Given the description of an element on the screen output the (x, y) to click on. 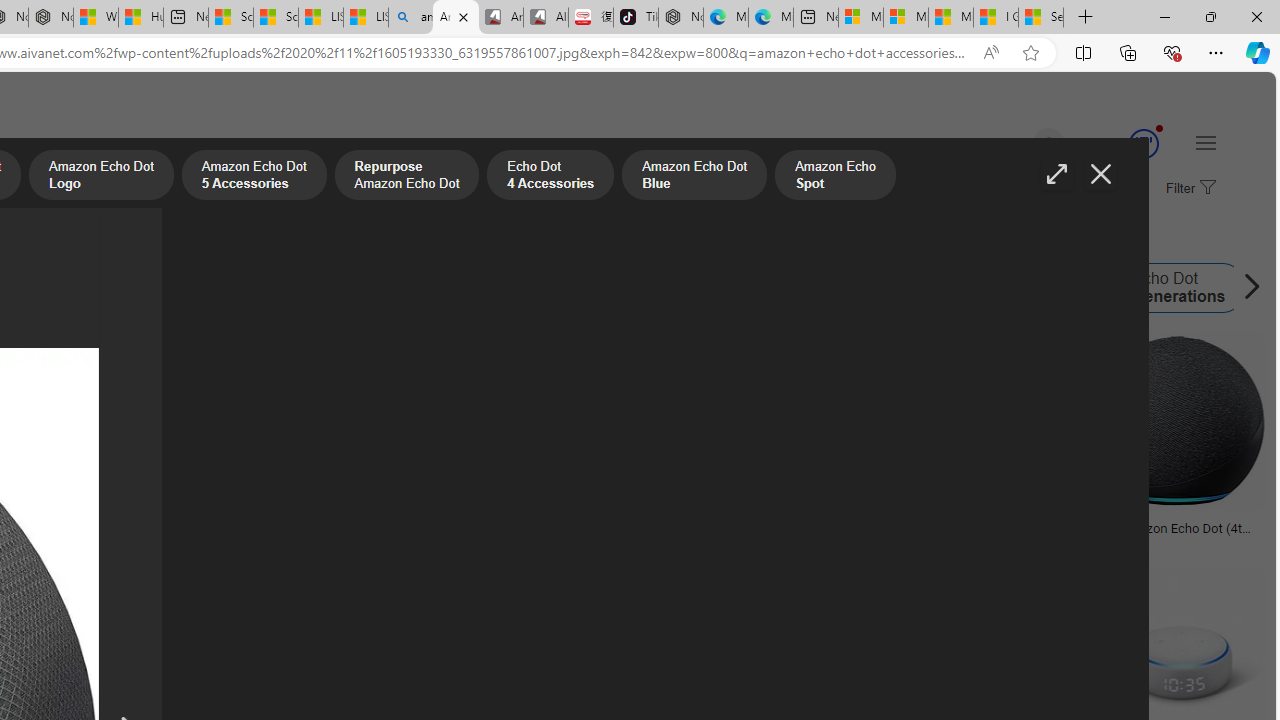
tpsearchtool.com (930, 541)
Full screen (1055, 173)
Wildlife - MSN (95, 17)
All Cubot phones (545, 17)
Huge shark washes ashore at New York City beach | Watch (140, 17)
Amazon Echo Dot 3 (891, 287)
